Given the description of an element on the screen output the (x, y) to click on. 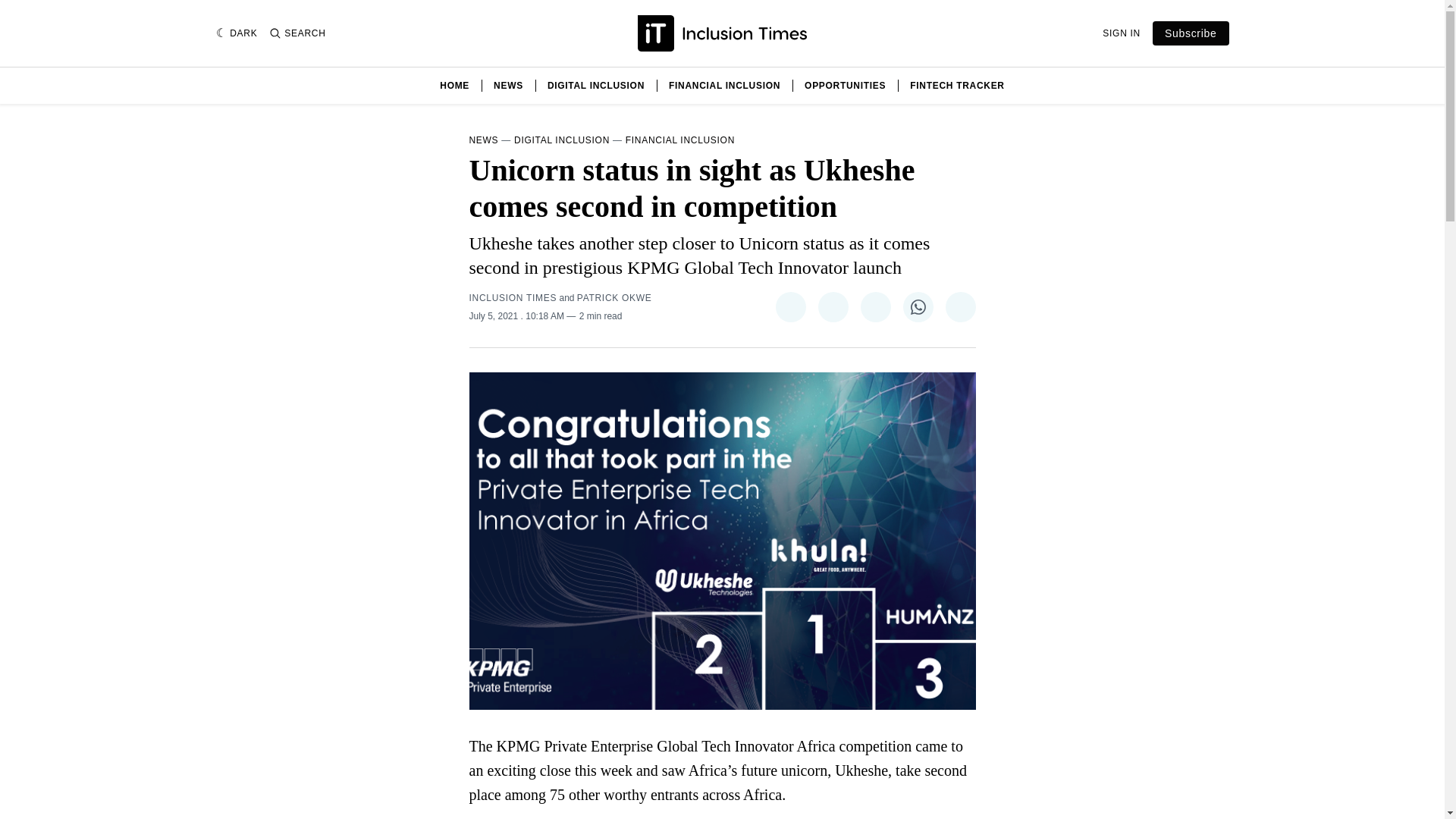
DARK (236, 32)
Share on Facebook (831, 306)
Share on WhatsApp (917, 306)
SEARCH (296, 33)
INCLUSION TIMES (512, 297)
DIGITAL INCLUSION (561, 140)
SIGN IN (1121, 33)
Share on LinkedIn (874, 306)
NEWS (482, 140)
PATRICK OKWE (614, 297)
DIGITAL INCLUSION (596, 85)
Subscribe (1190, 33)
Share via Email (959, 306)
FINANCIAL INCLUSION (680, 140)
HOME (453, 85)
